Given the description of an element on the screen output the (x, y) to click on. 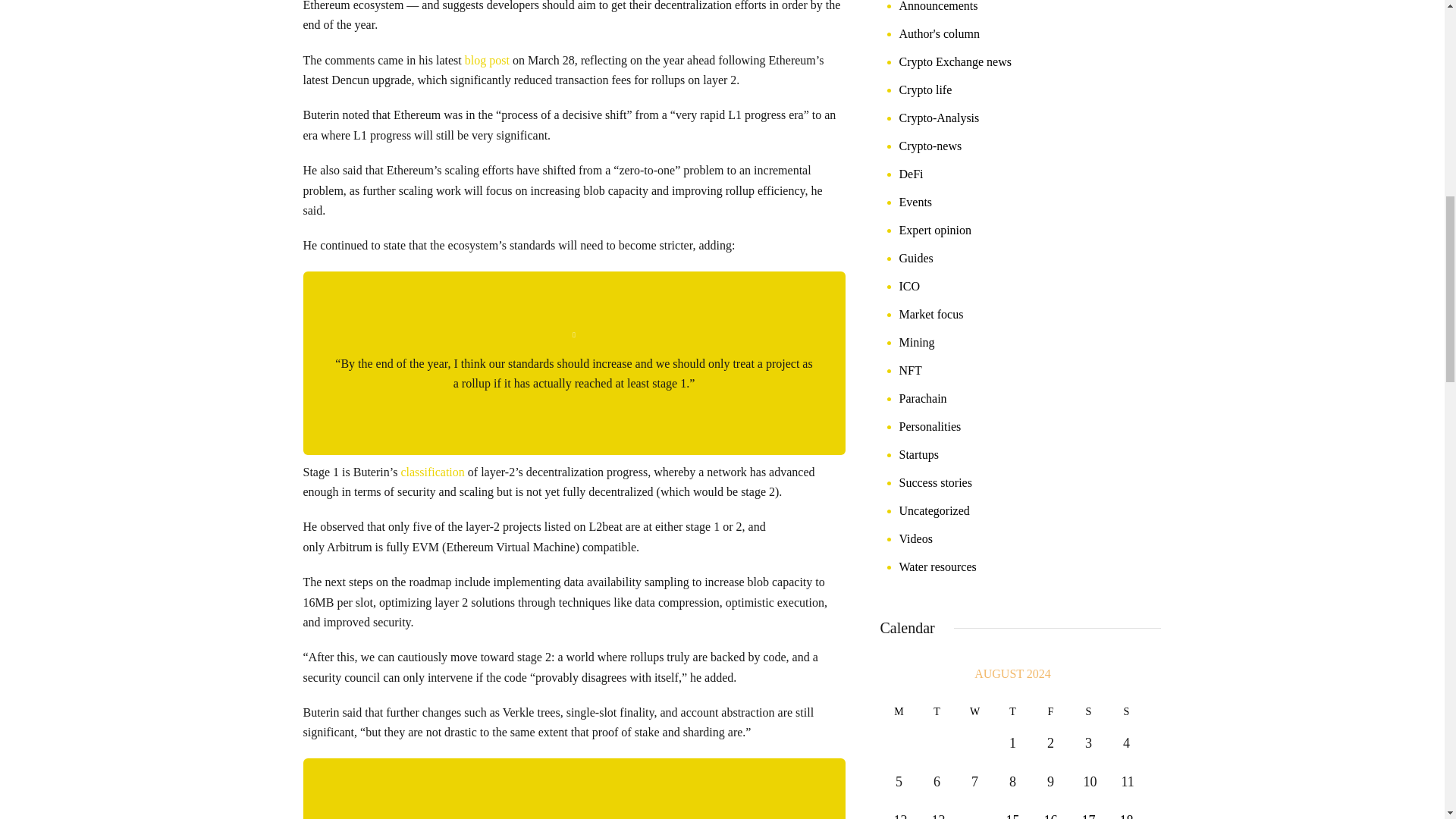
Saturday (1087, 711)
Sunday (1125, 711)
Tuesday (936, 711)
Monday (898, 711)
Friday (1049, 711)
Thursday (1011, 711)
Wednesday (973, 711)
